Given the description of an element on the screen output the (x, y) to click on. 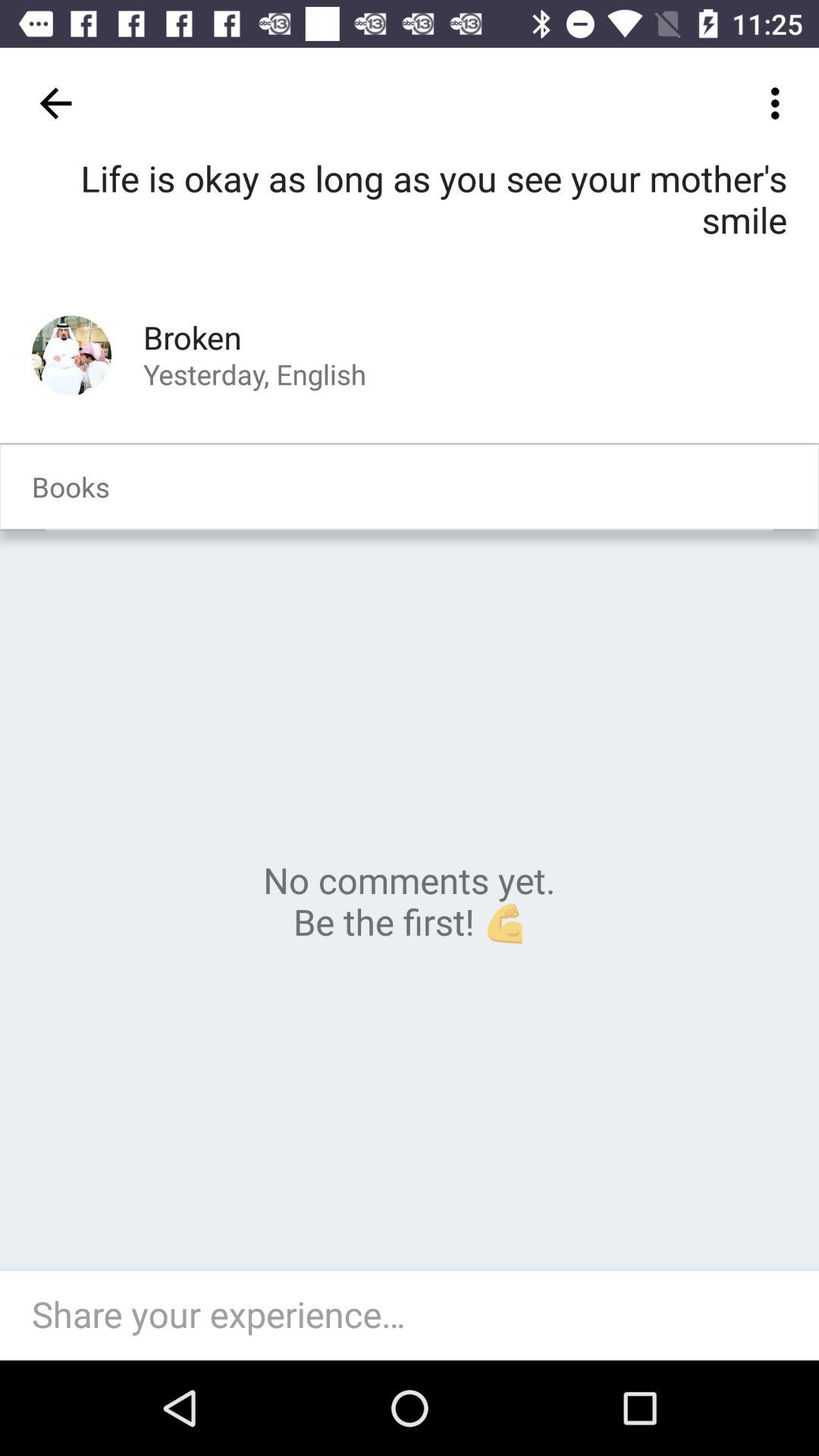
tap the icon above the life is okay icon (55, 103)
